Given the description of an element on the screen output the (x, y) to click on. 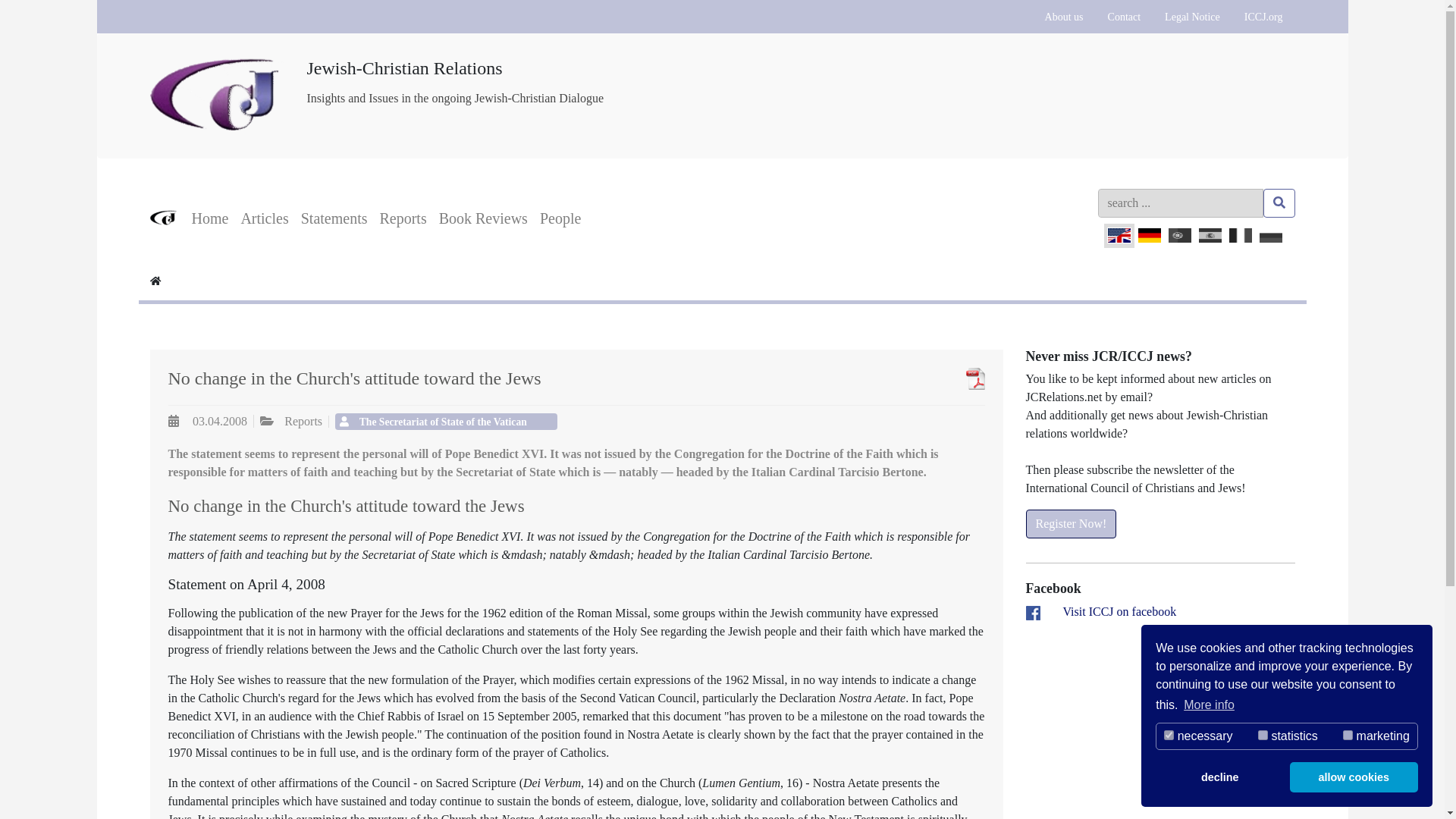
Jewish-Christian Relations (216, 60)
Open external link in new window (1119, 611)
About us (1064, 17)
No change in the Church's attitude toward the Jews (939, 378)
English (1118, 235)
ICCJ.org (1263, 17)
allow cookies (1354, 777)
More info (1208, 704)
Contact (1124, 17)
People (560, 217)
decline (1220, 777)
Visit ICCJ on facebook (1119, 611)
Deutsch (1149, 235)
Register Now! (1070, 523)
Reports (402, 217)
